Given the description of an element on the screen output the (x, y) to click on. 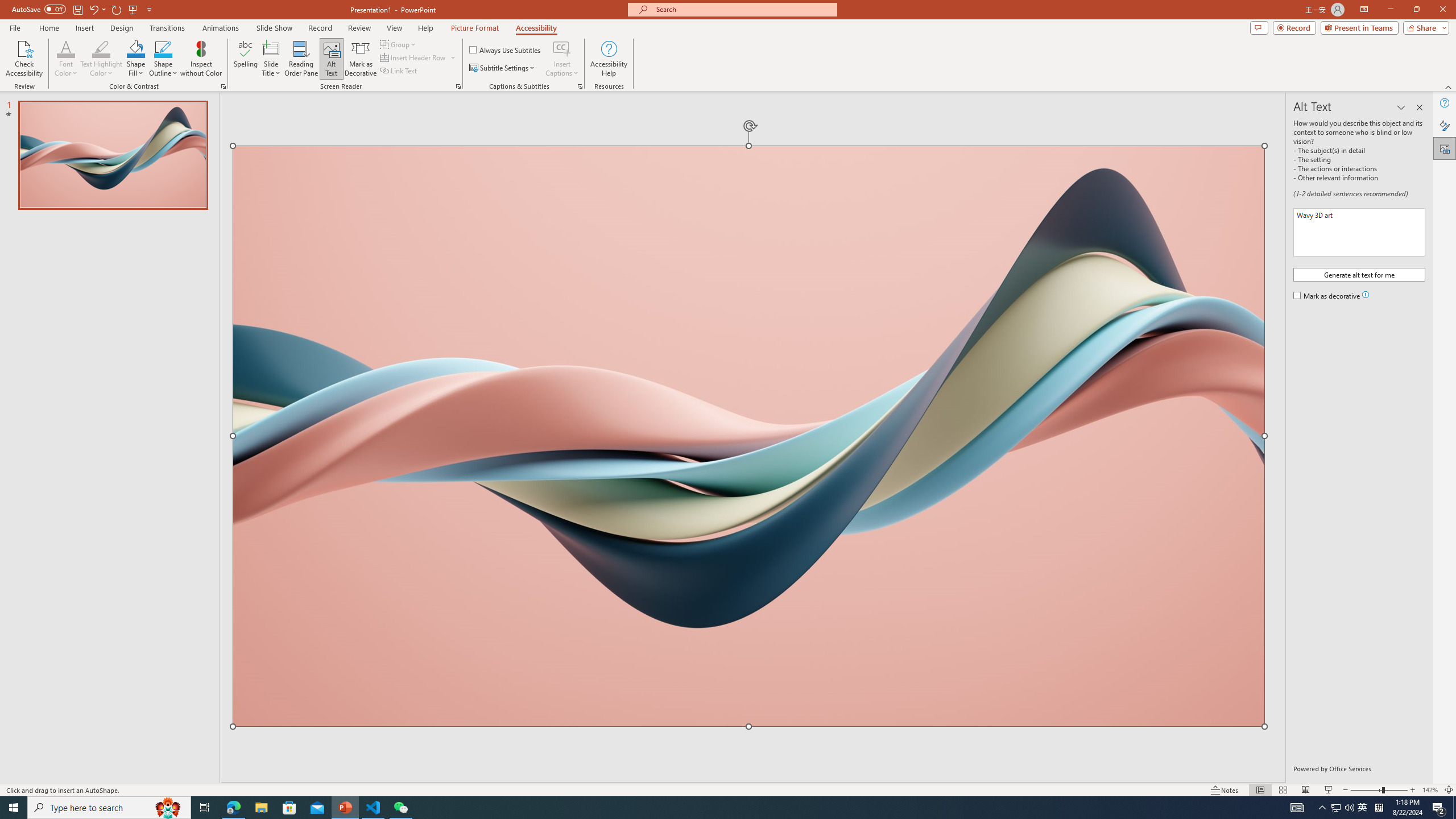
Picture Format (475, 28)
Inspect without Color (201, 58)
